Given the description of an element on the screen output the (x, y) to click on. 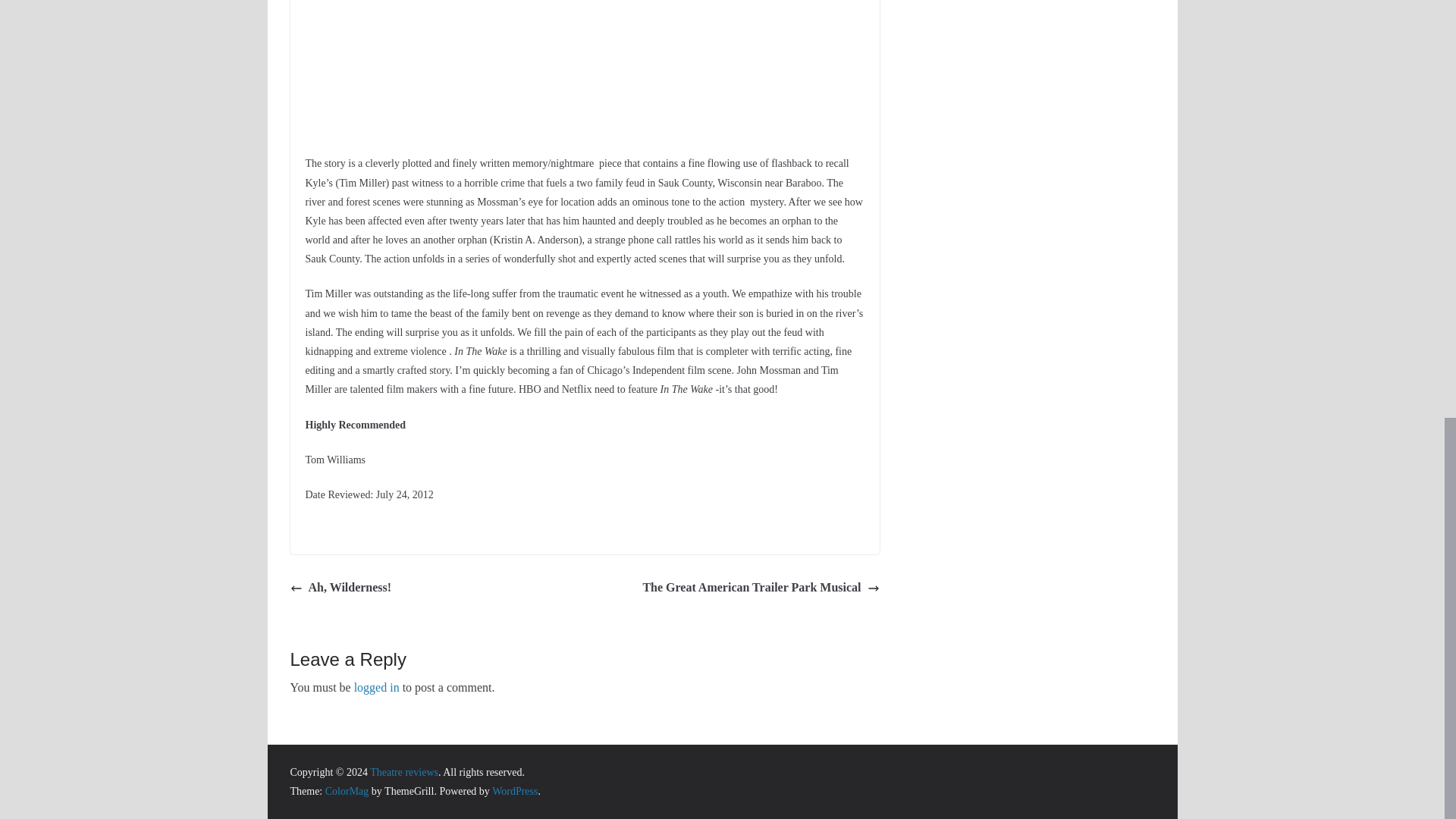
logged in (375, 686)
The Great American Trailer Park Musical (760, 587)
Ah, Wilderness! (340, 587)
